Given the description of an element on the screen output the (x, y) to click on. 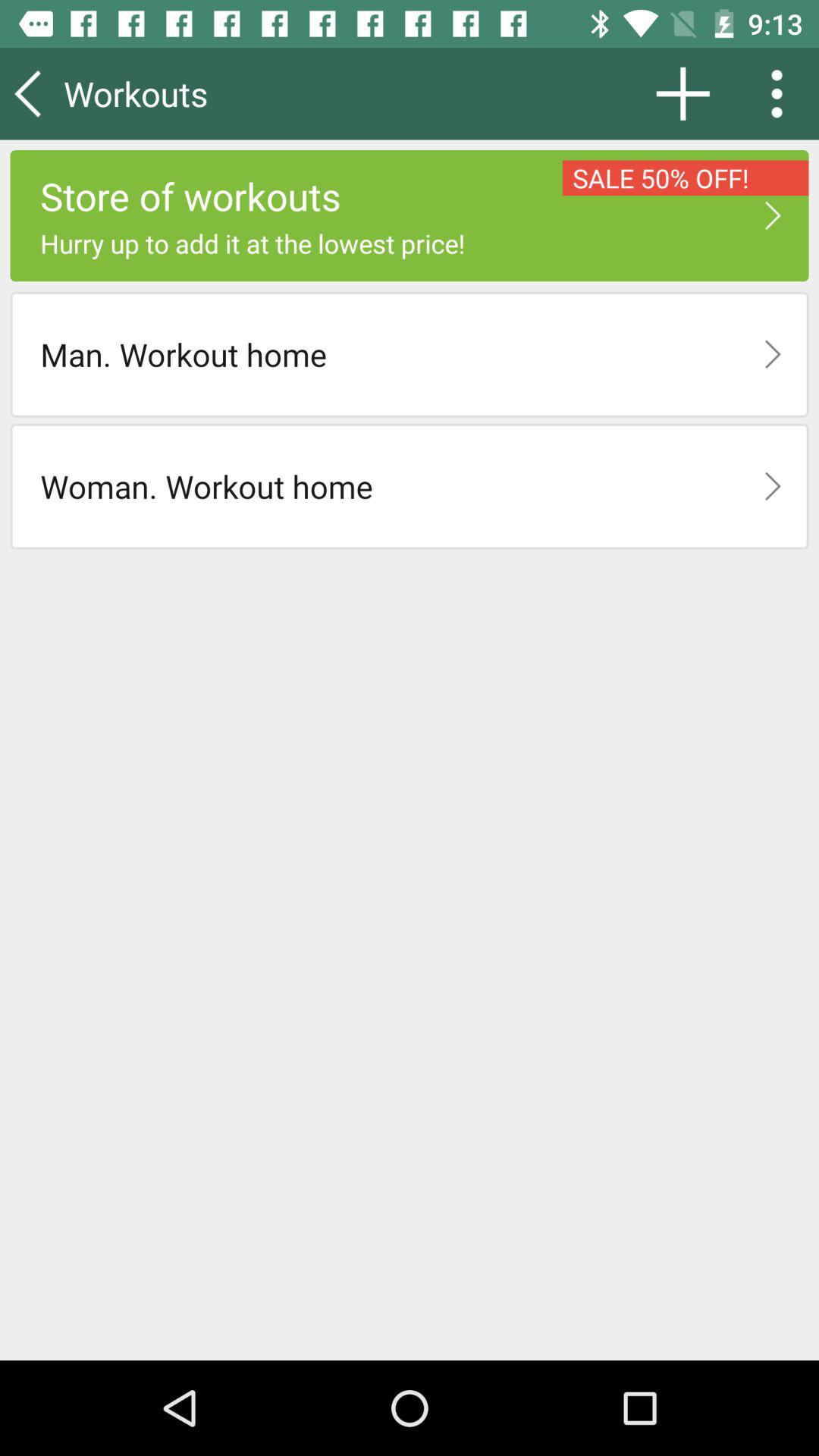
click the item above sale 50% off! (782, 93)
